Given the description of an element on the screen output the (x, y) to click on. 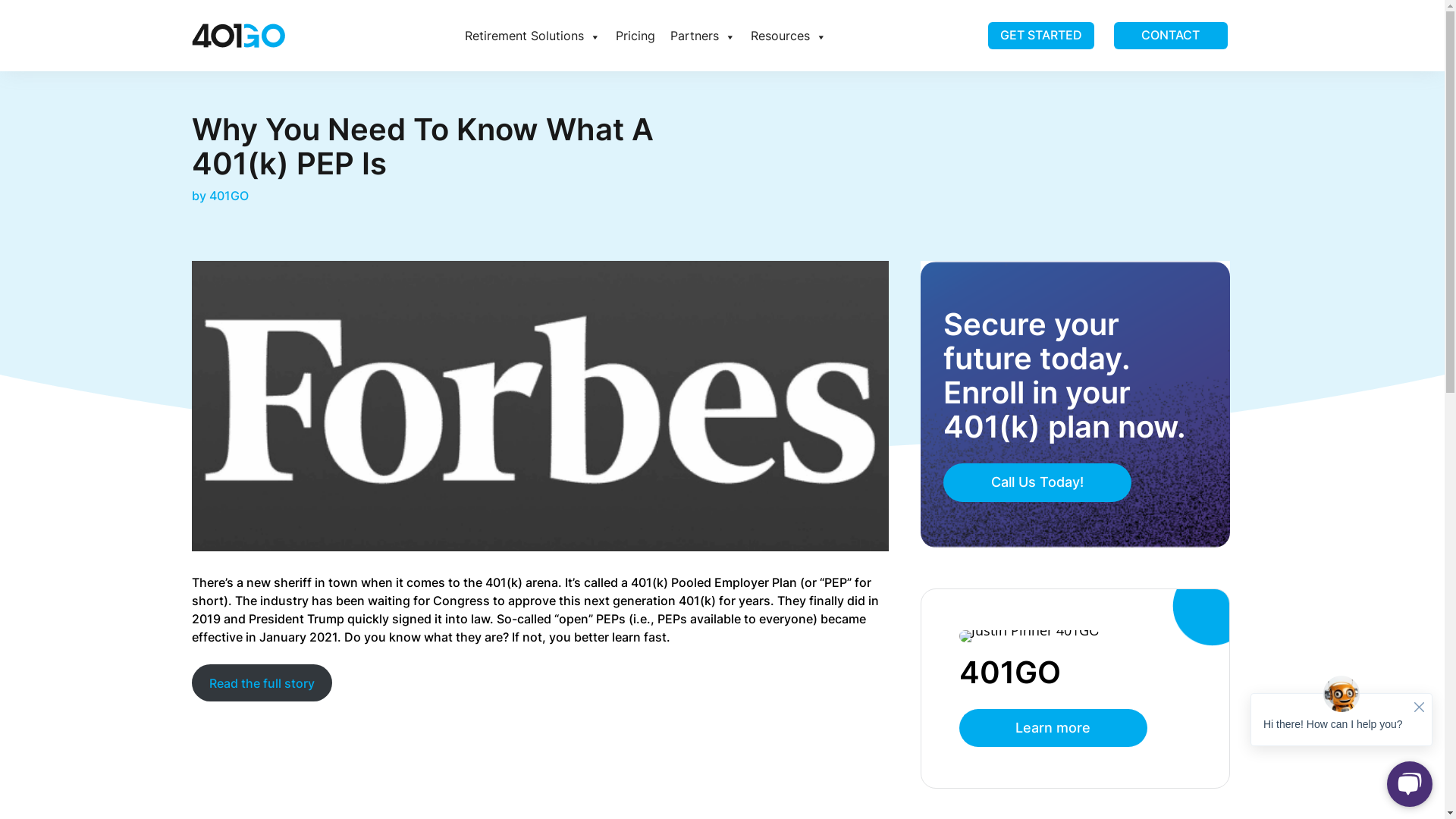
CONTACT Element type: text (1169, 35)
Partners Element type: text (702, 35)
Justin 1 Element type: hover (1029, 636)
Resources Element type: text (788, 35)
Call Us Today! Element type: text (1037, 482)
Pricing Element type: text (635, 35)
Isolation_Mode Element type: hover (237, 35)
Read the full story Element type: text (261, 682)
Retirement Solutions Element type: text (531, 35)
GET STARTED Element type: text (1040, 35)
Learn more Element type: text (1053, 728)
401GO Element type: text (228, 195)
